Given the description of an element on the screen output the (x, y) to click on. 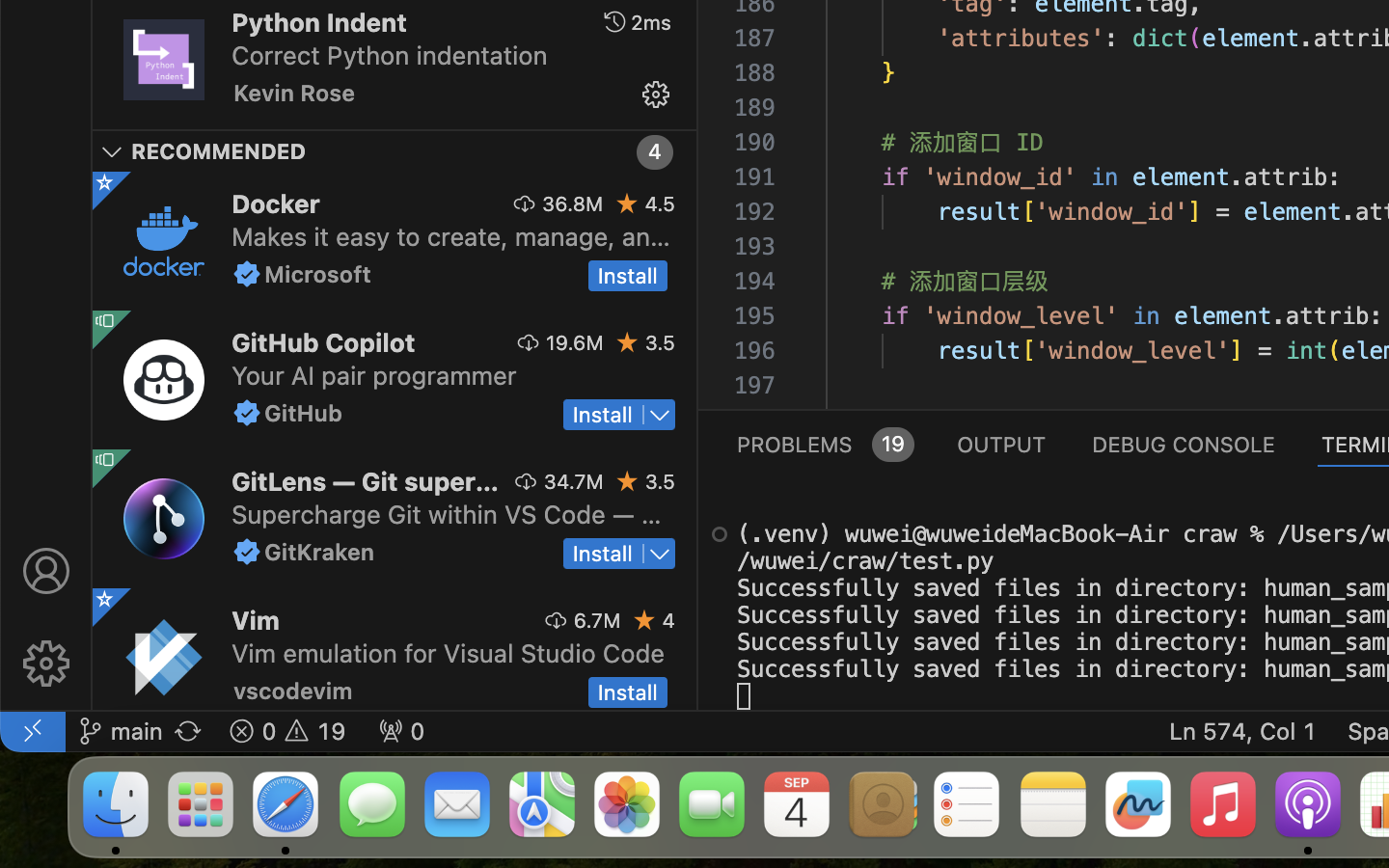
Python Indent Element type: AXStaticText (319, 21)
 Element type: AXStaticText (719, 533)
36.8M Element type: AXStaticText (572, 203)
 Element type: AXStaticText (111, 151)
2ms Element type: AXStaticText (650, 21)
